Given the description of an element on the screen output the (x, y) to click on. 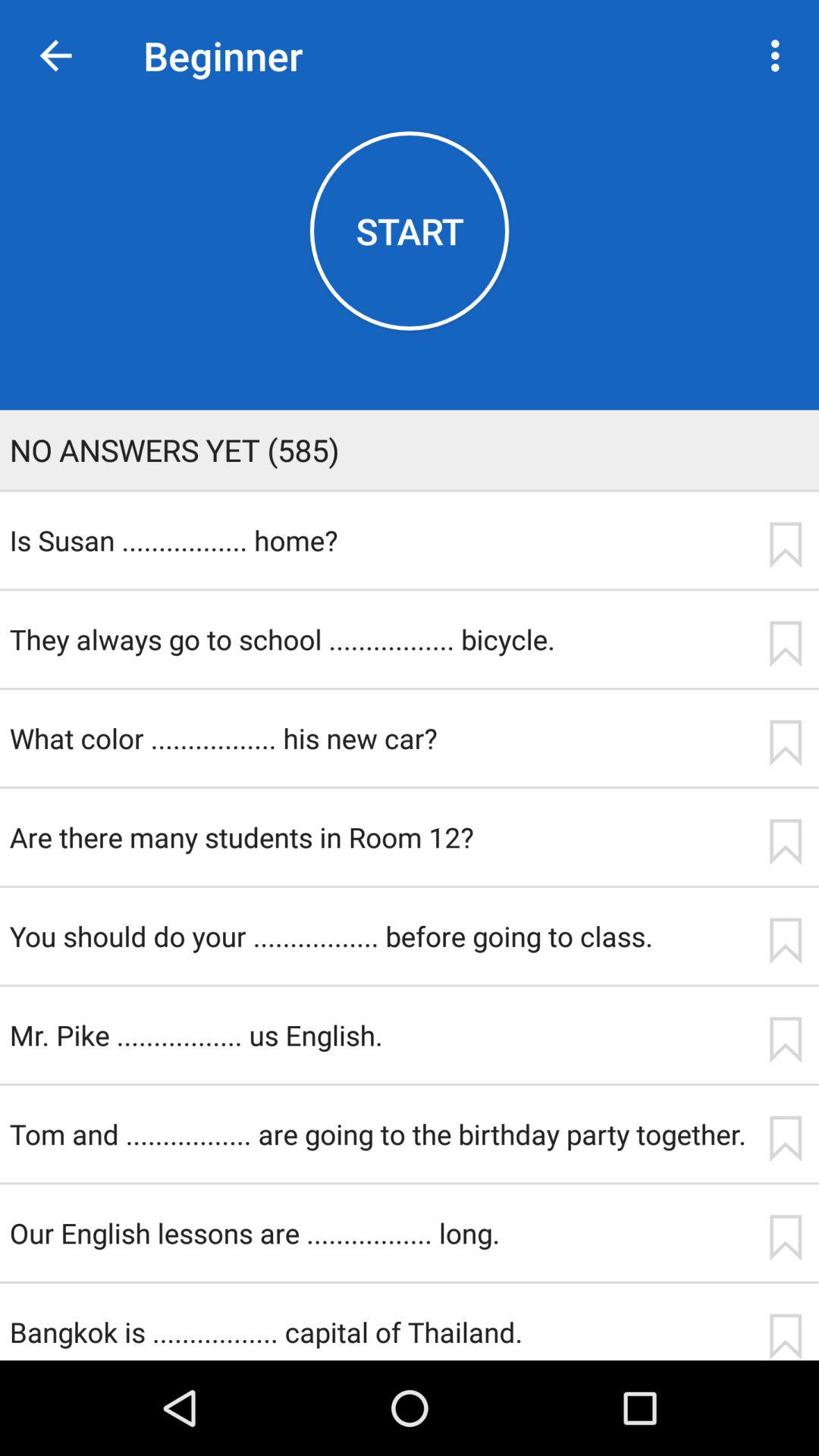
flip to start icon (409, 230)
